Given the description of an element on the screen output the (x, y) to click on. 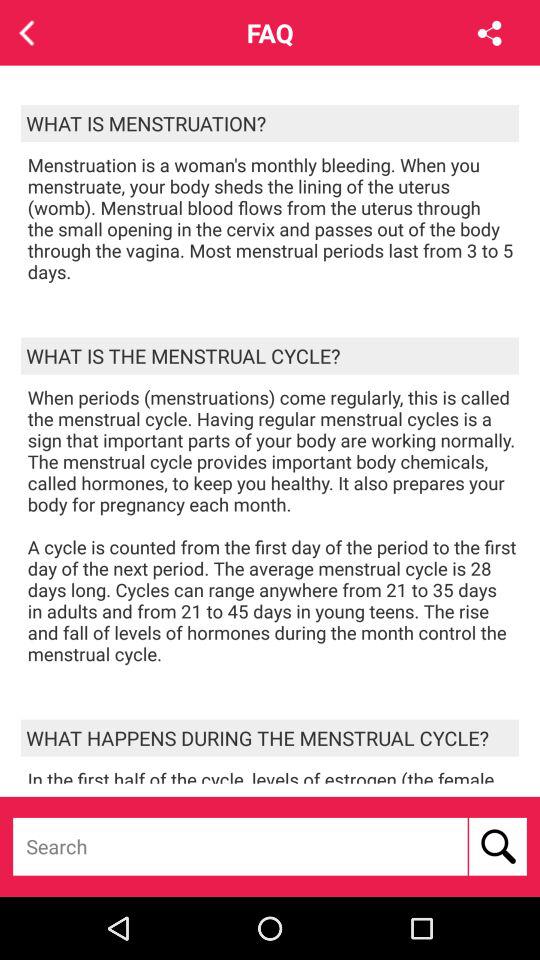
turn on the what happens during icon (270, 737)
